Given the description of an element on the screen output the (x, y) to click on. 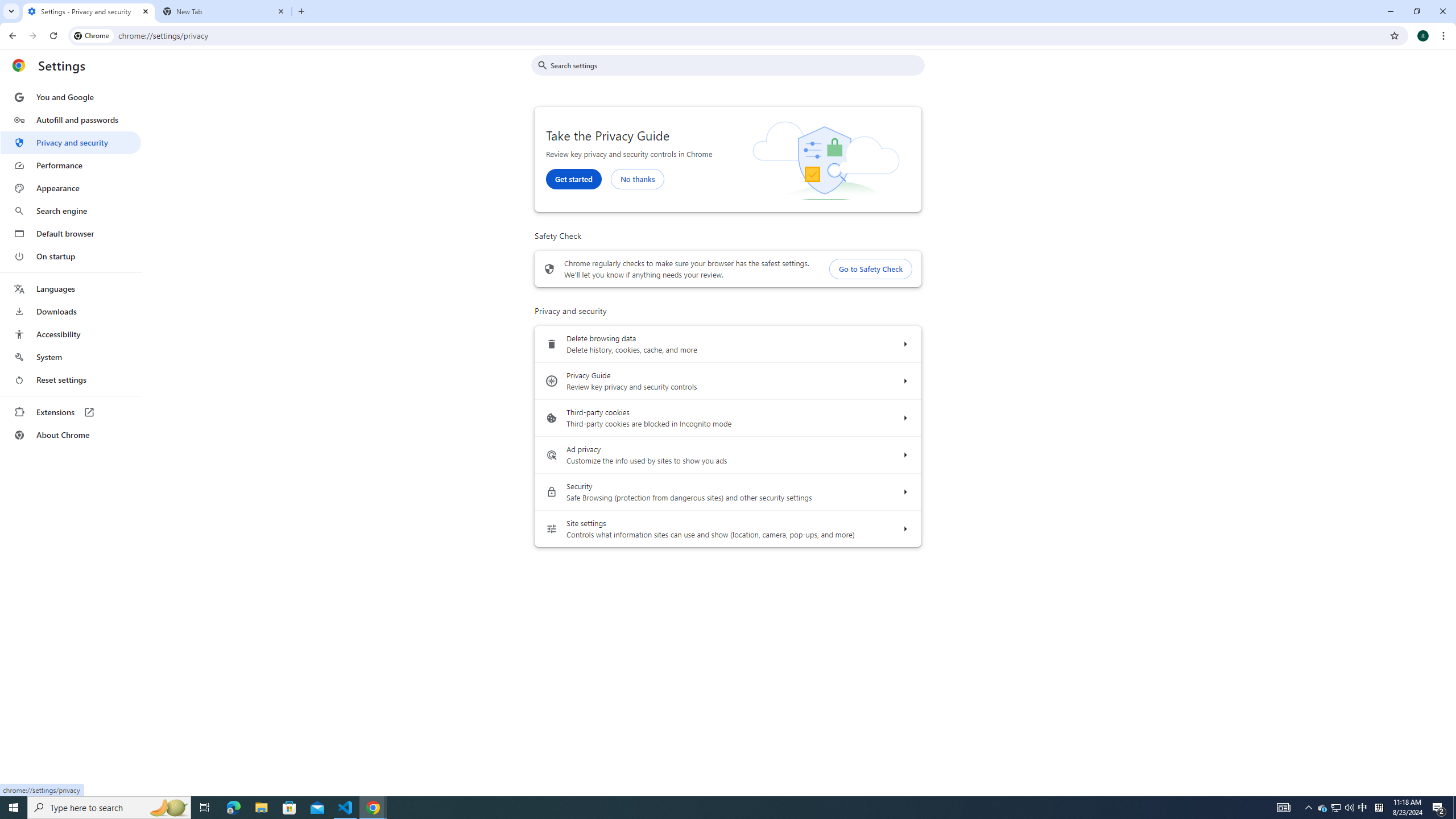
Reset settings (70, 379)
You and Google (70, 96)
About Chrome (70, 434)
Accessibility (70, 333)
Privacy Guide Review key privacy and security controls (904, 380)
Appearance (70, 187)
New Tab (224, 11)
Languages (70, 288)
Search engine (70, 210)
Settings - Privacy and security (88, 11)
